Given the description of an element on the screen output the (x, y) to click on. 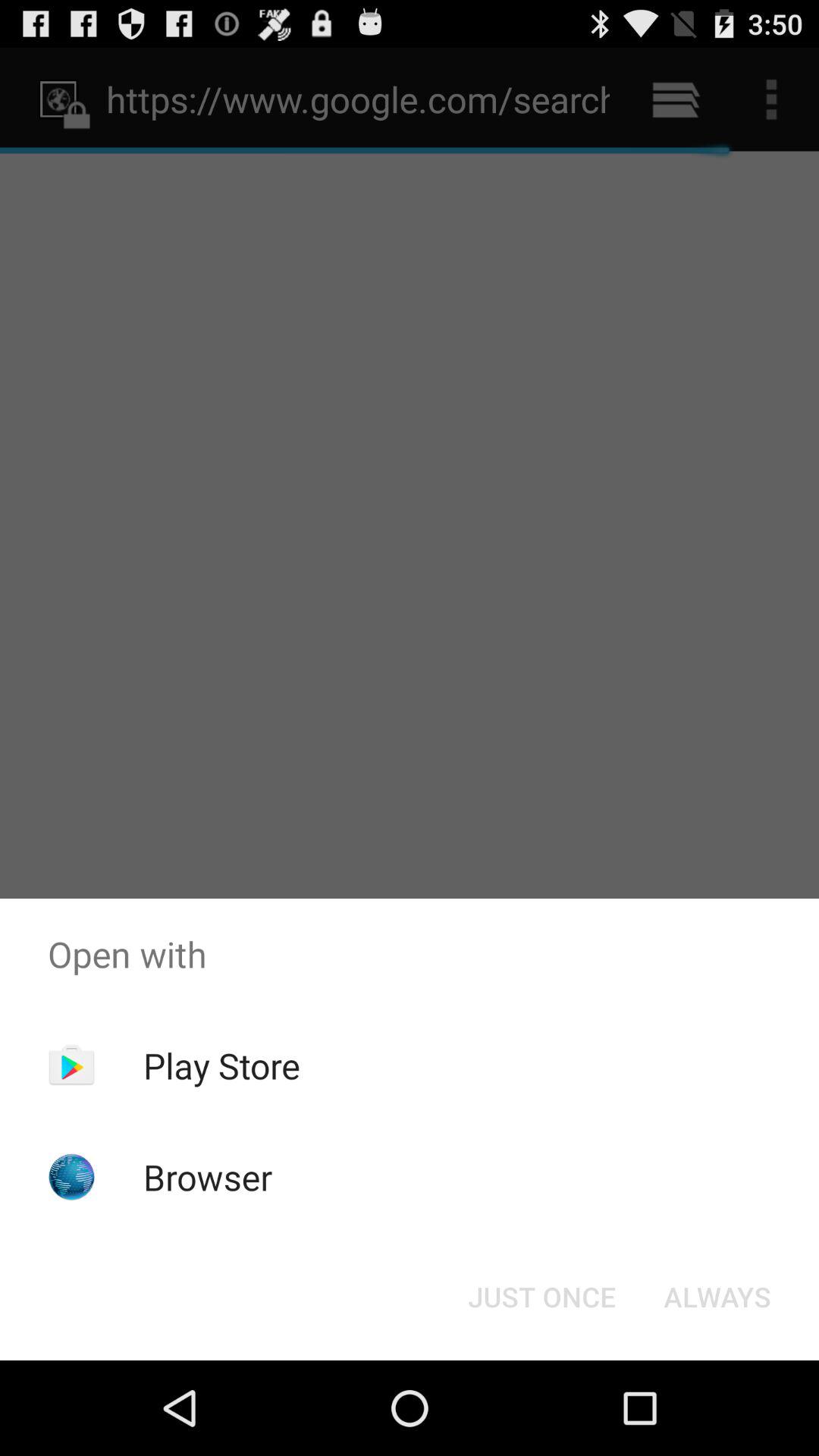
tap item at the bottom (541, 1296)
